Given the description of an element on the screen output the (x, y) to click on. 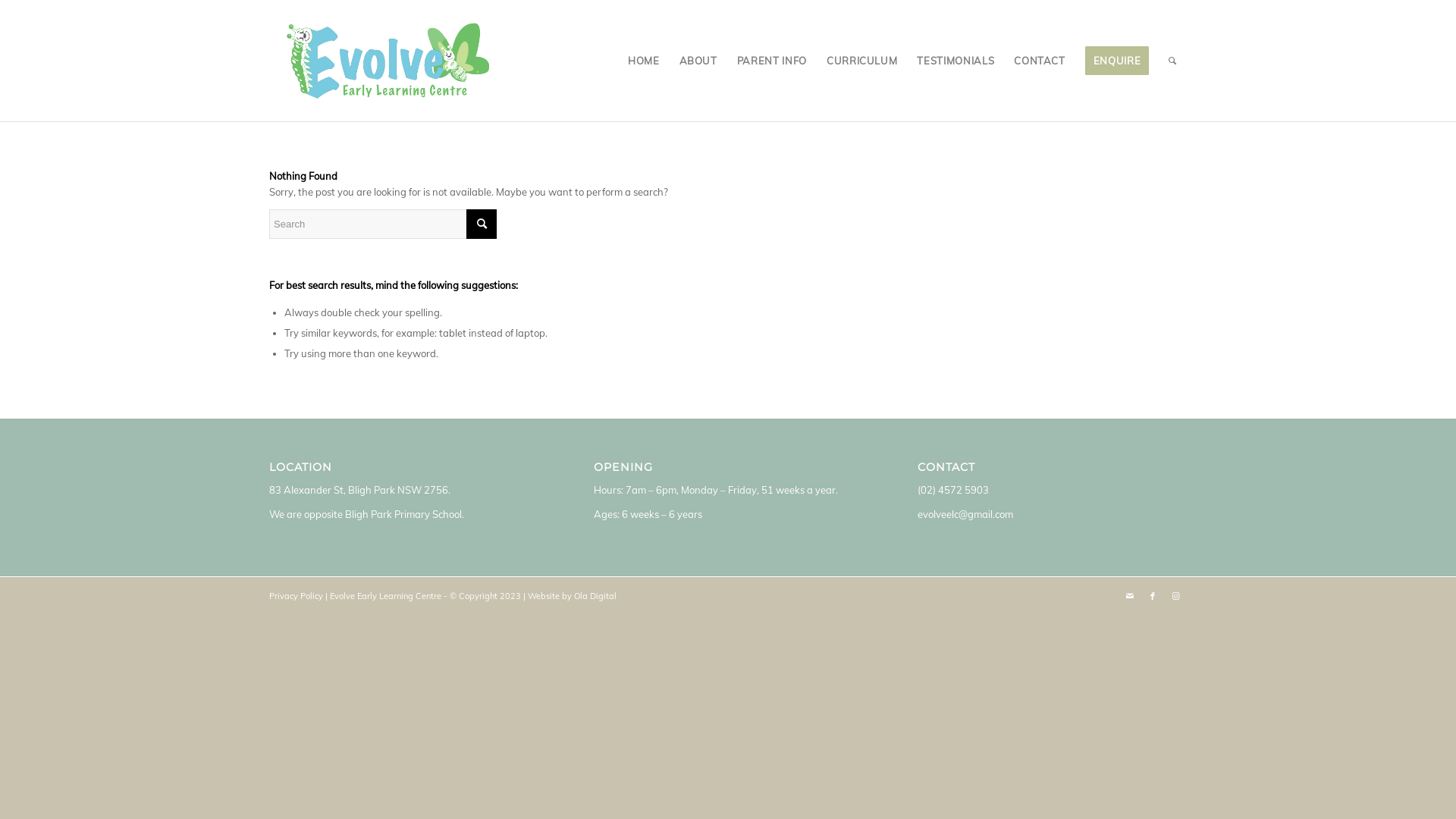
HOME Element type: text (643, 60)
Privacy Policy Element type: text (296, 595)
ENQUIRE Element type: text (1117, 60)
Mail Element type: hover (1129, 595)
CONTACT Element type: text (1039, 60)
Ola Digital Element type: text (595, 595)
PARENT INFO Element type: text (771, 60)
Facebook Element type: hover (1152, 595)
TESTIMONIALS Element type: text (955, 60)
CURRICULUM Element type: text (861, 60)
Instagram Element type: hover (1175, 595)
ABOUT Element type: text (697, 60)
